Given the description of an element on the screen output the (x, y) to click on. 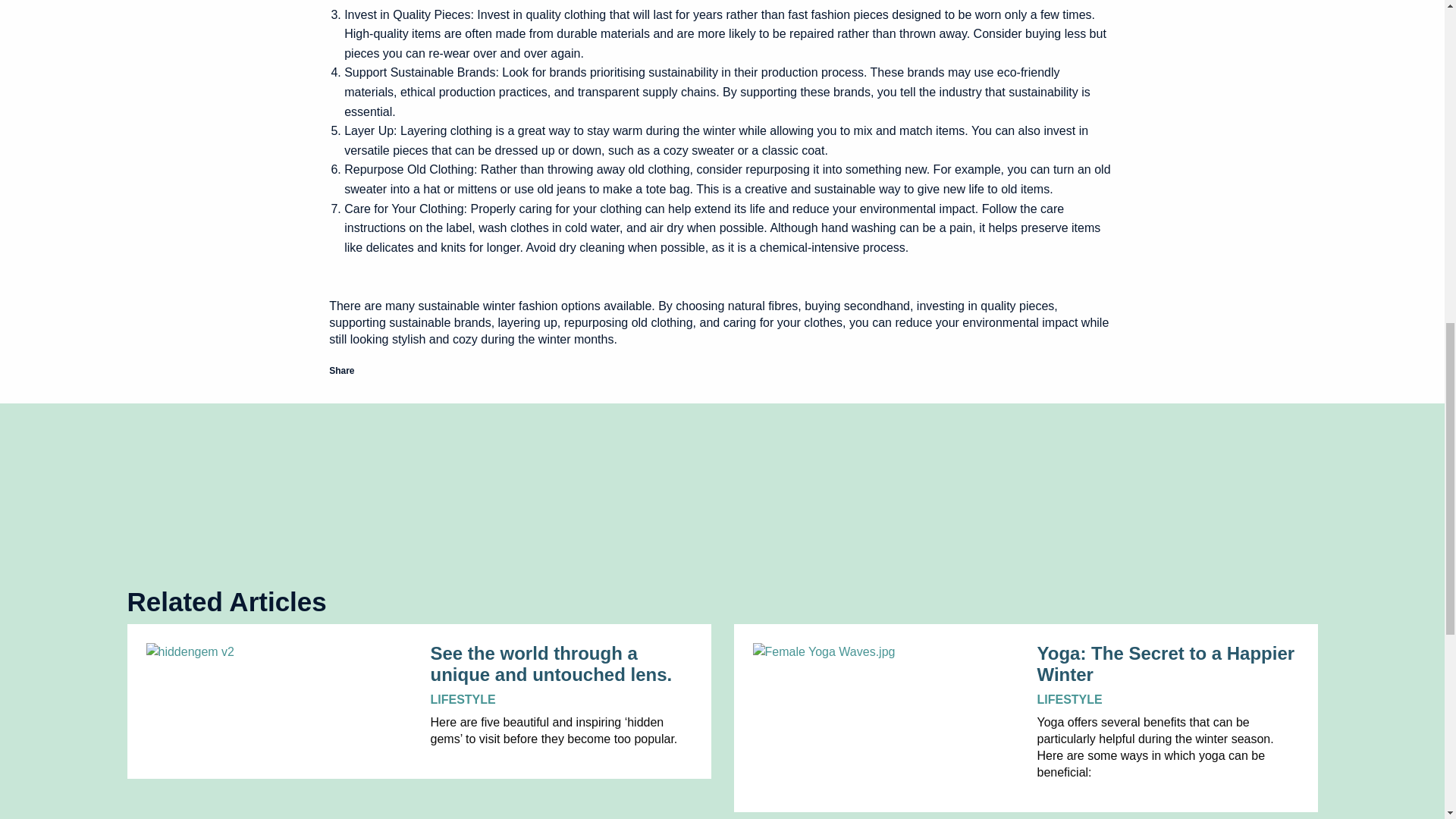
Yoga: The Secret to a Happier Winter (1167, 664)
LIFESTYLE (463, 698)
LIFESTYLE (1069, 698)
hiddengem v2 (276, 651)
Female Yoga Waves.jpg (882, 651)
See the world through a unique and untouched lens. (561, 664)
